Given the description of an element on the screen output the (x, y) to click on. 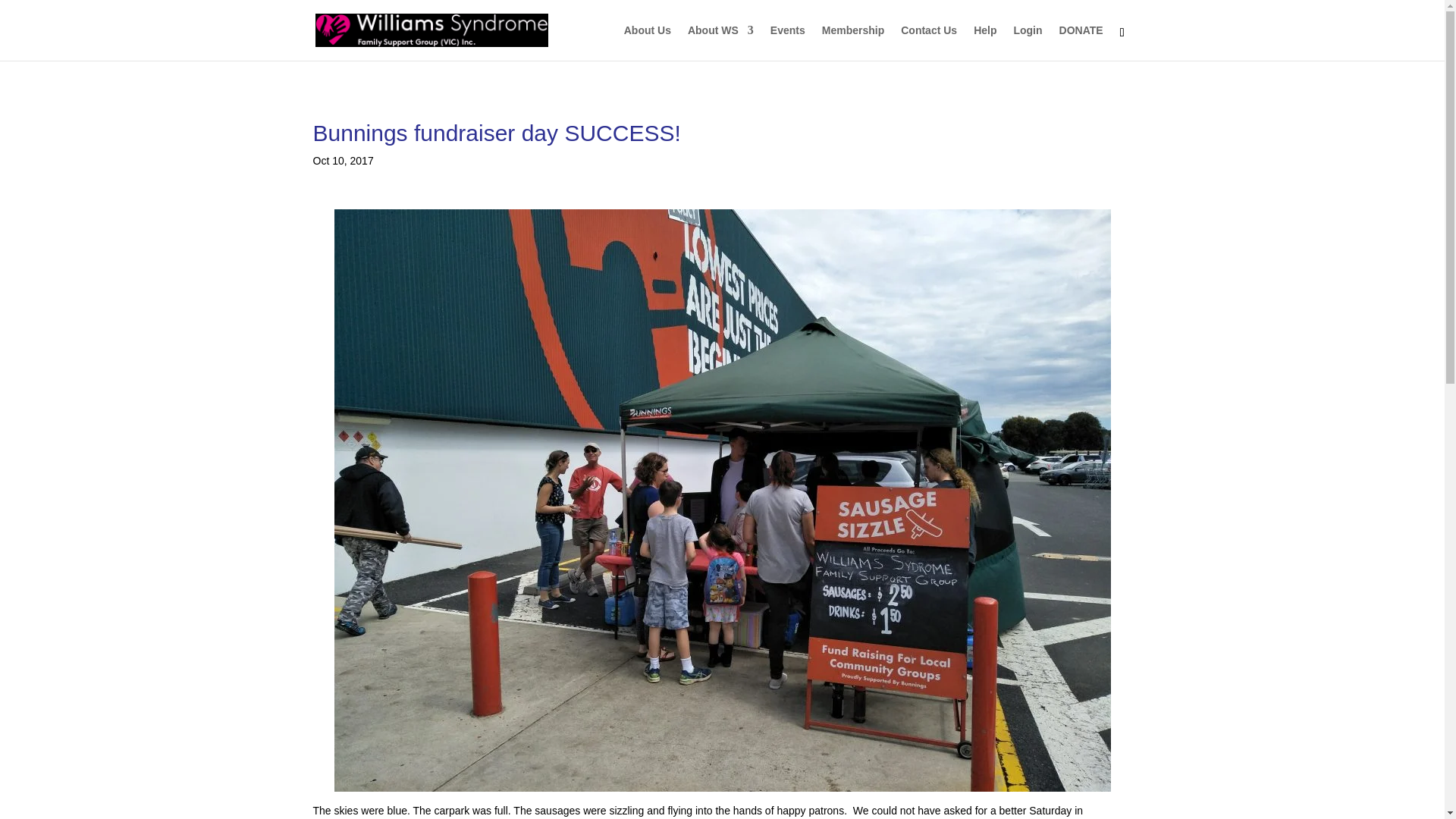
DONATE (1081, 42)
About WS (720, 42)
Contact Us (928, 42)
About Us (647, 42)
Events (787, 42)
Membership (852, 42)
